Given the description of an element on the screen output the (x, y) to click on. 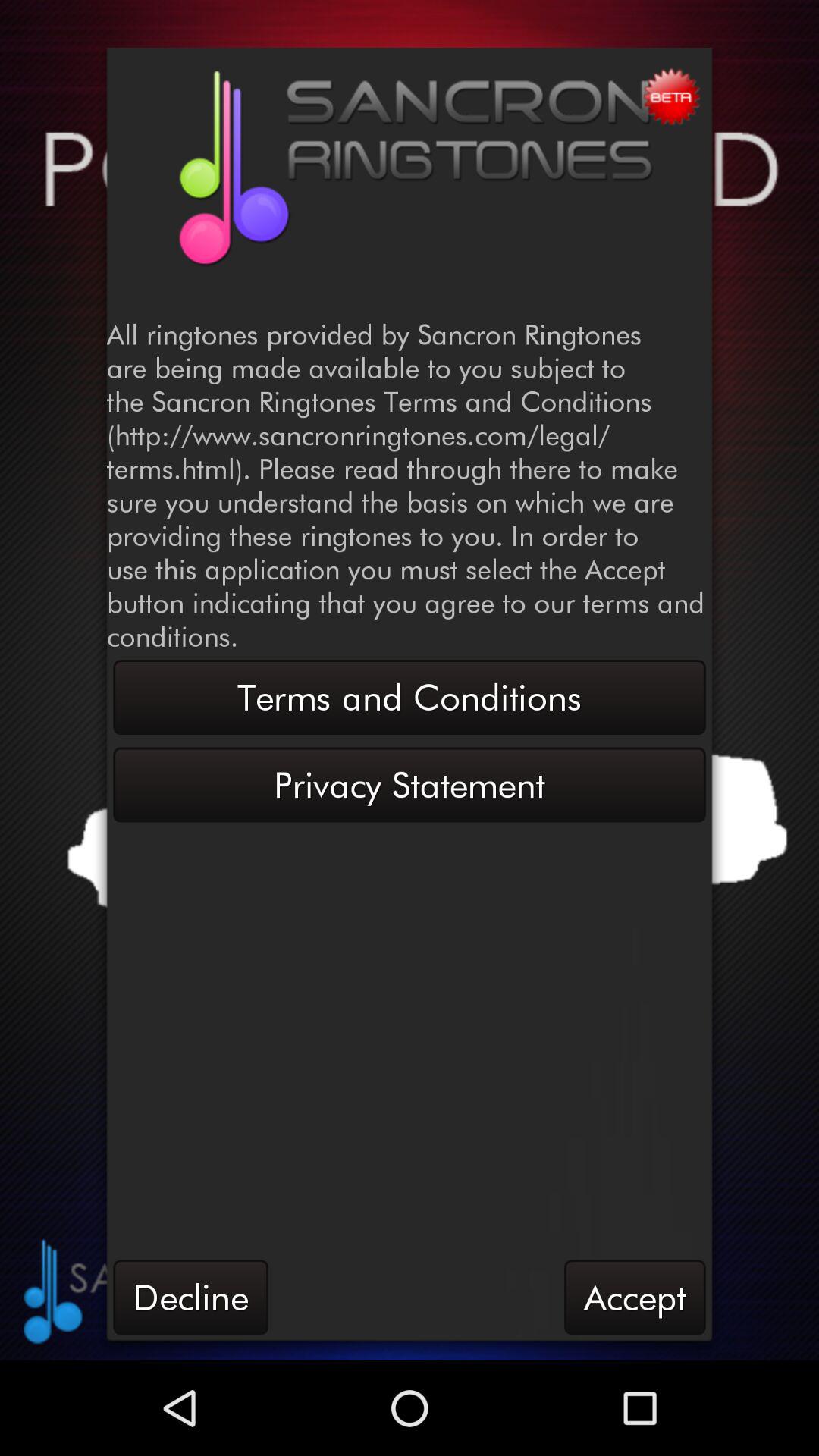
press button above the decline item (409, 784)
